Given the description of an element on the screen output the (x, y) to click on. 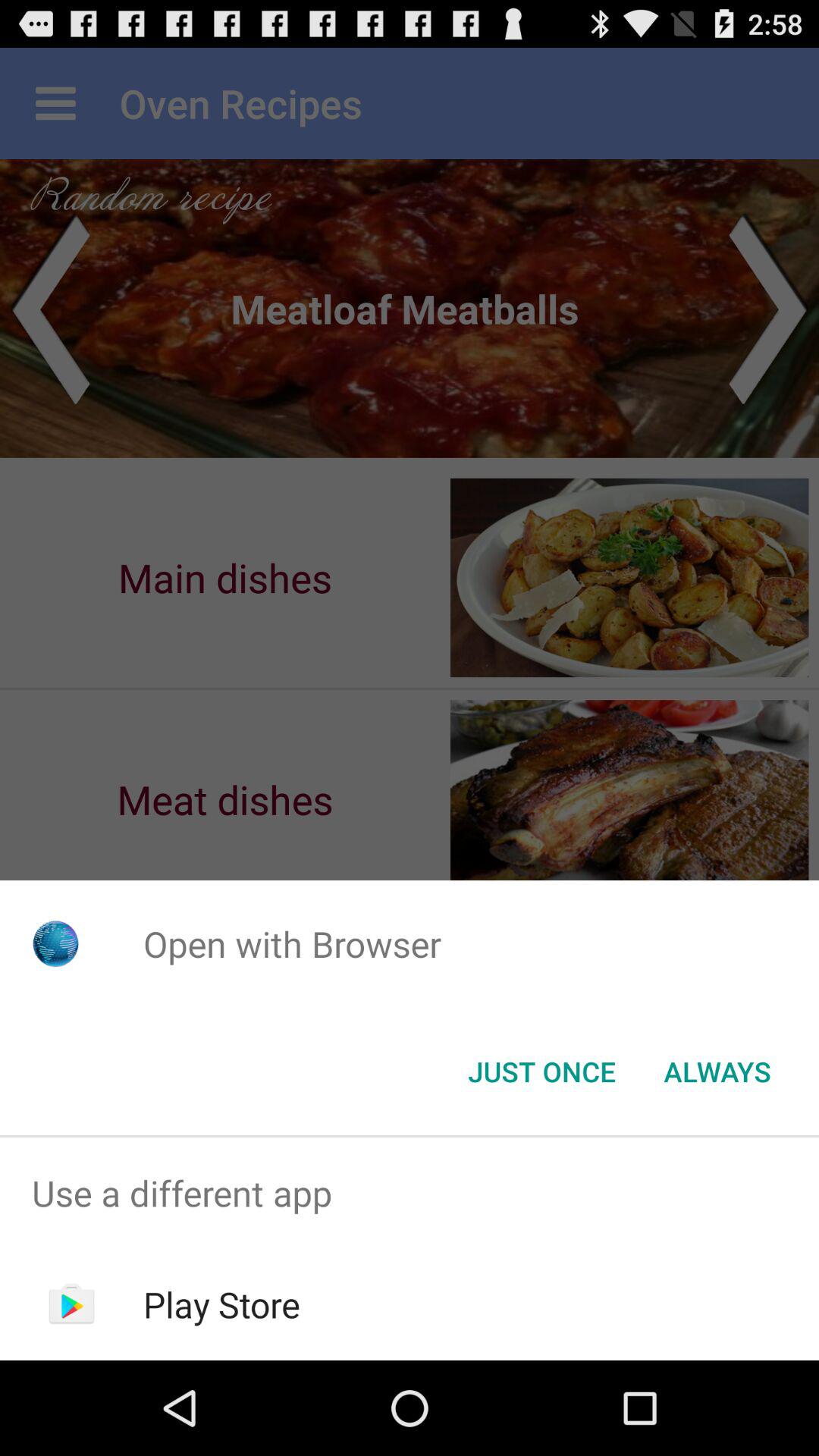
flip to just once icon (541, 1071)
